Given the description of an element on the screen output the (x, y) to click on. 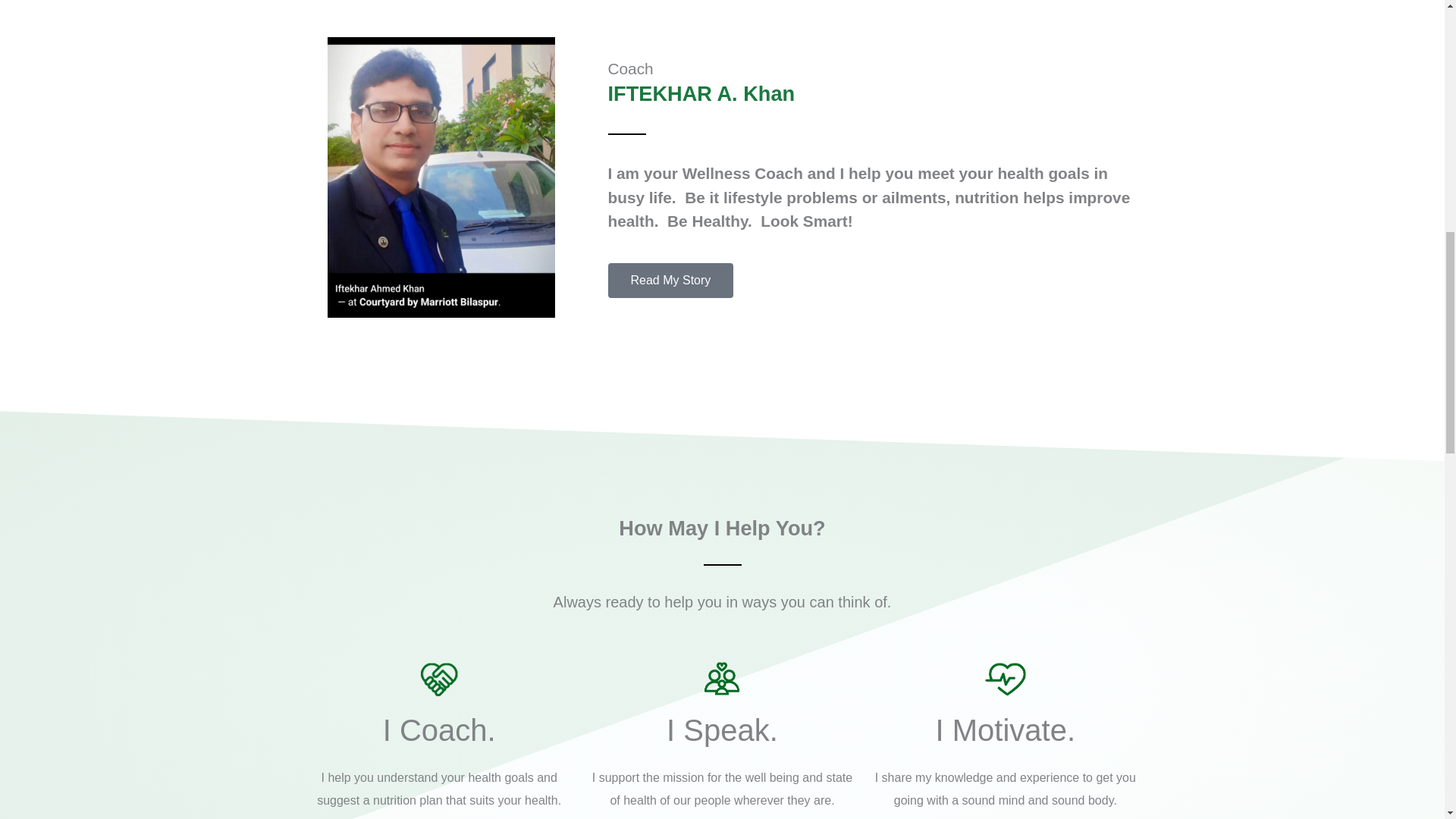
icon02-free-img.png (721, 678)
icon01-free-img.png (438, 678)
icon03-free-img.png (1004, 678)
Read My Story (670, 280)
